Given the description of an element on the screen output the (x, y) to click on. 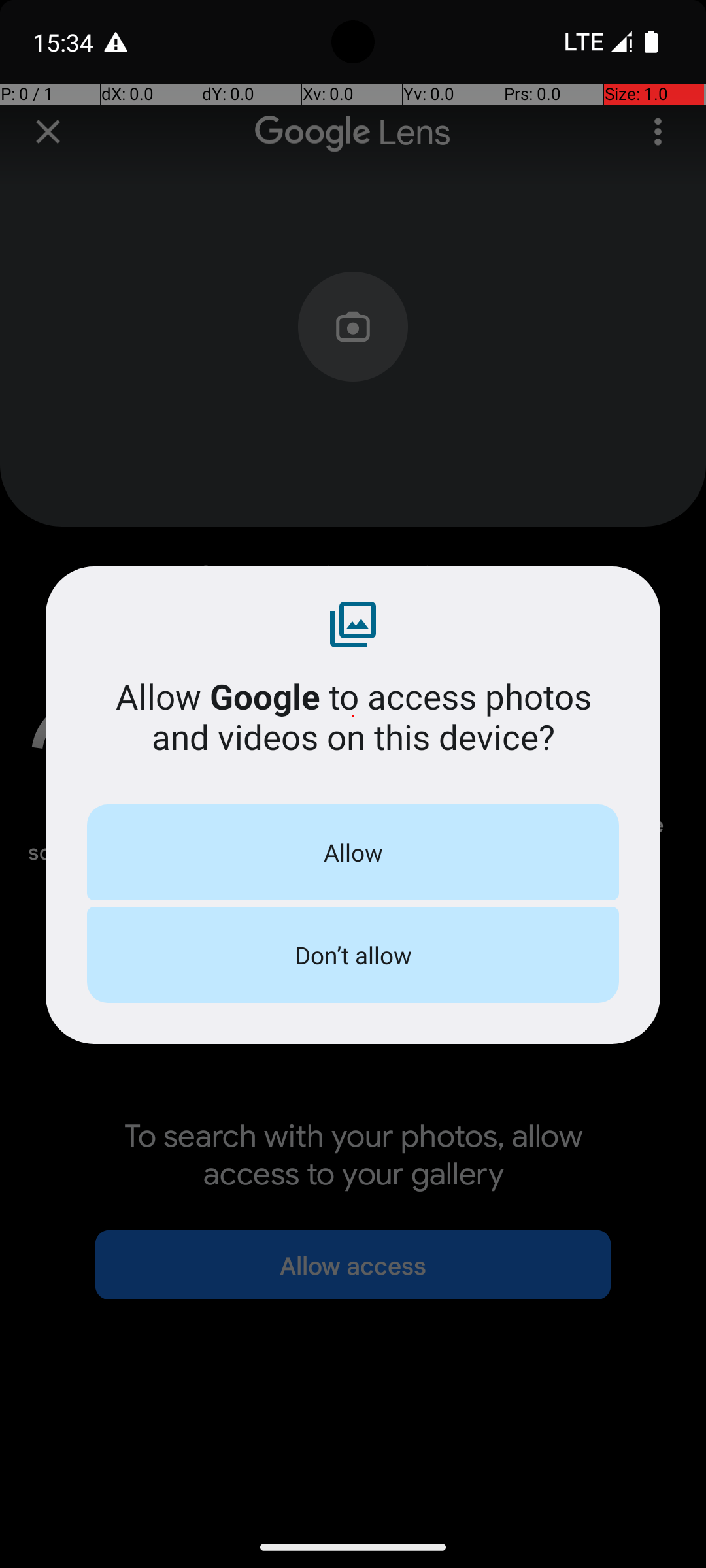
Allow Google to access photos and videos on this device? Element type: android.widget.TextView (352, 715)
Allow Element type: android.widget.Button (352, 852)
Don’t allow Element type: android.widget.Button (352, 954)
